Given the description of an element on the screen output the (x, y) to click on. 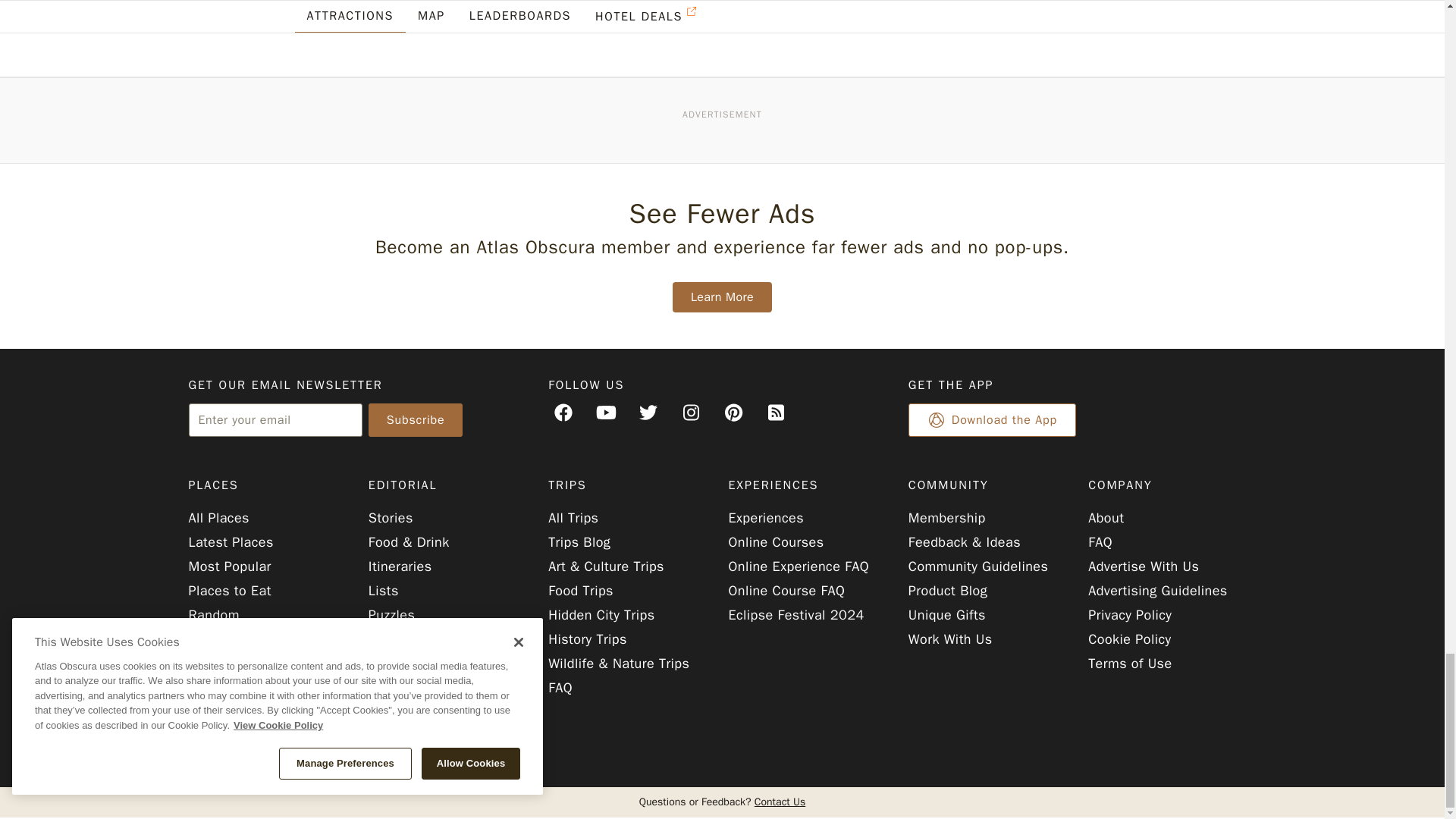
Subscribe (415, 419)
